Given the description of an element on the screen output the (x, y) to click on. 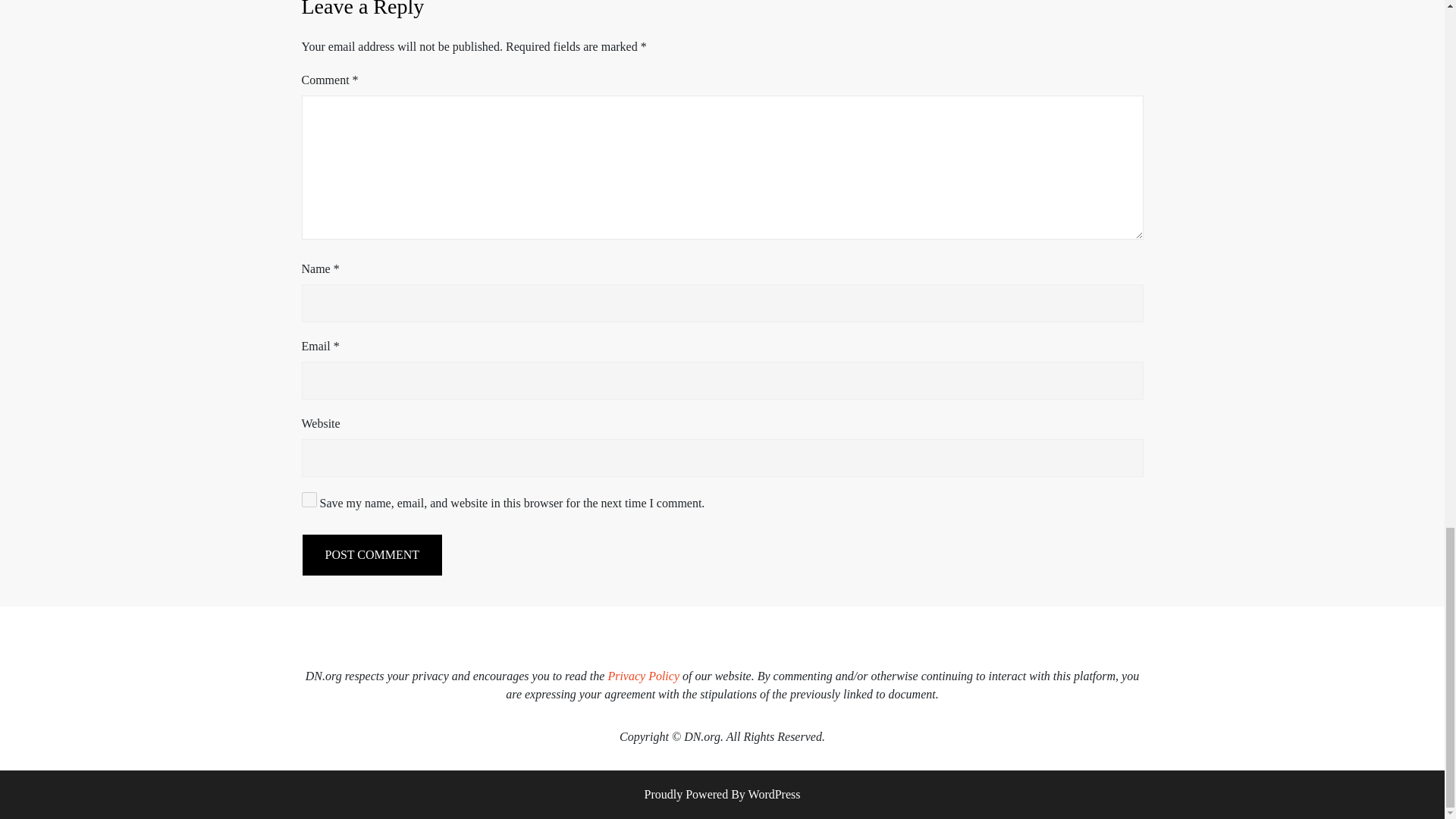
yes (309, 499)
Post Comment (372, 554)
